Given the description of an element on the screen output the (x, y) to click on. 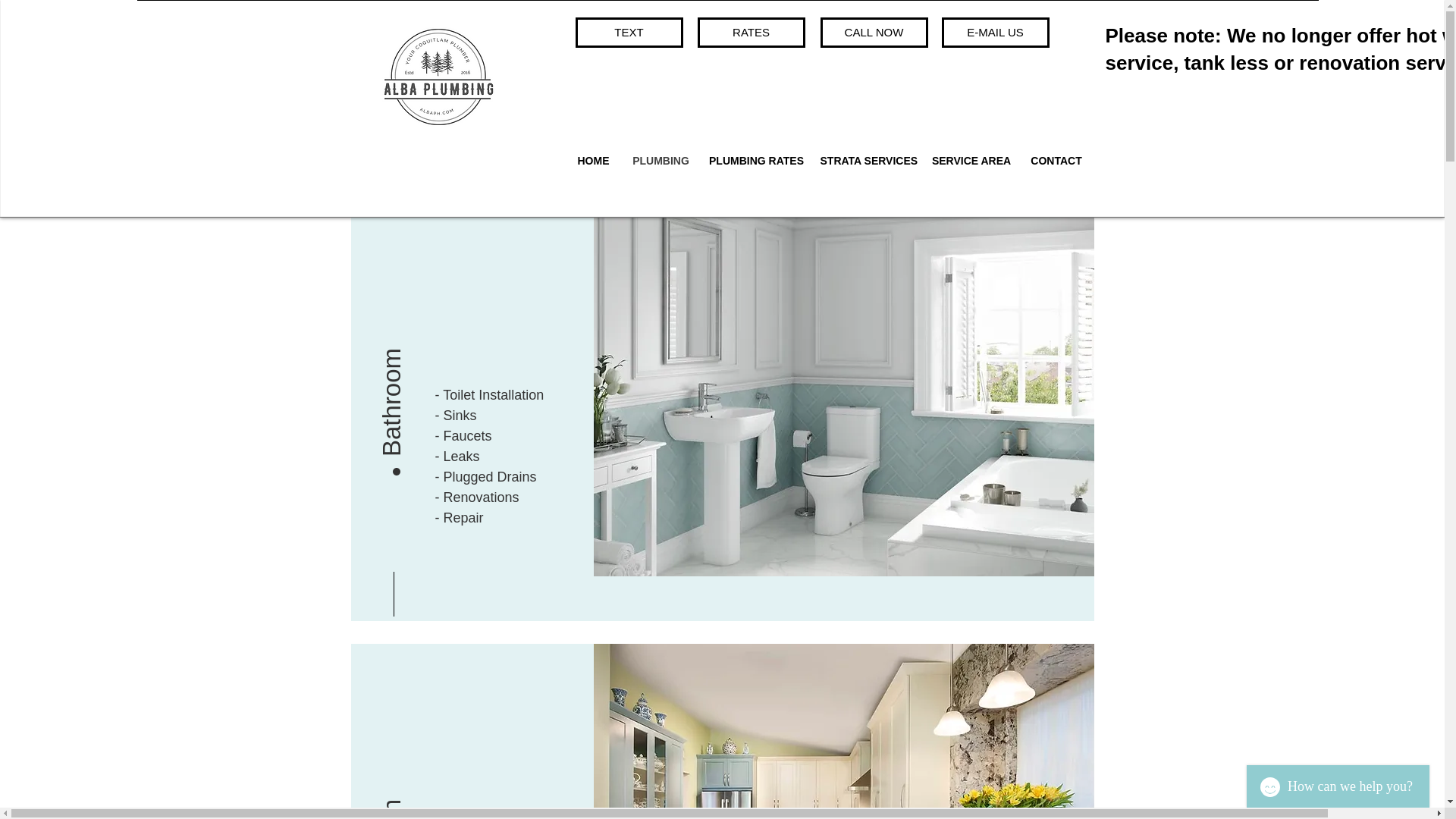
STRATA SERVICES (868, 160)
SERVICE AREA (970, 160)
HOME (593, 160)
CONTACT (1056, 160)
PLUMBING RATES (756, 160)
PLUMBING (660, 160)
E-MAIL US (995, 32)
CALL NOW (874, 32)
TEXT (628, 32)
Wix Chat (1341, 782)
RATES (751, 32)
